Given the description of an element on the screen output the (x, y) to click on. 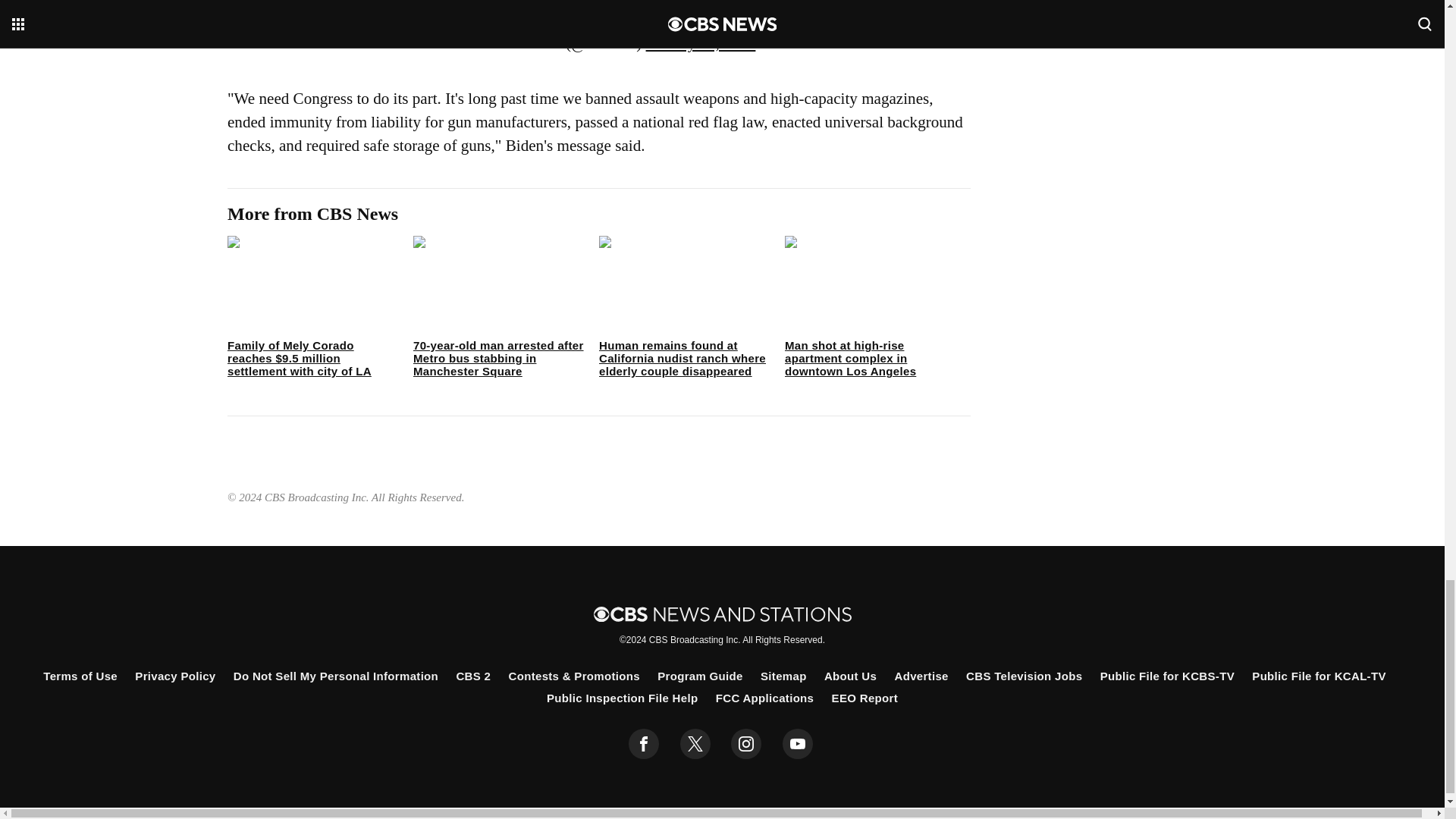
twitter (694, 743)
facebook (643, 743)
instagram (745, 743)
youtube (797, 743)
